Given the description of an element on the screen output the (x, y) to click on. 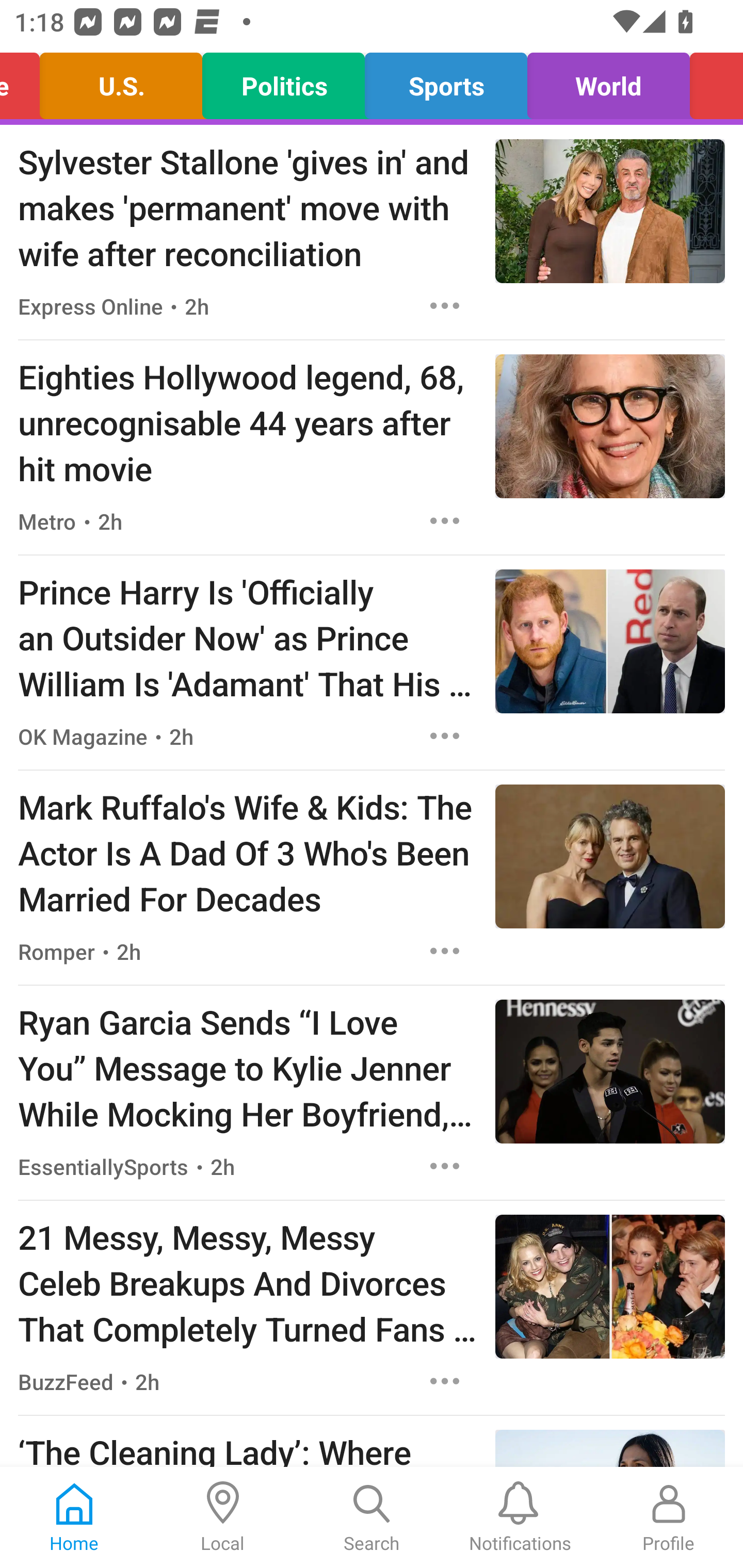
U.S. (120, 81)
Politics (283, 81)
Sports (445, 81)
World (608, 81)
Options (444, 305)
Options (444, 520)
Options (444, 736)
Options (444, 950)
Options (444, 1166)
Options (444, 1381)
Local (222, 1517)
Search (371, 1517)
Notifications (519, 1517)
Profile (668, 1517)
